Given the description of an element on the screen output the (x, y) to click on. 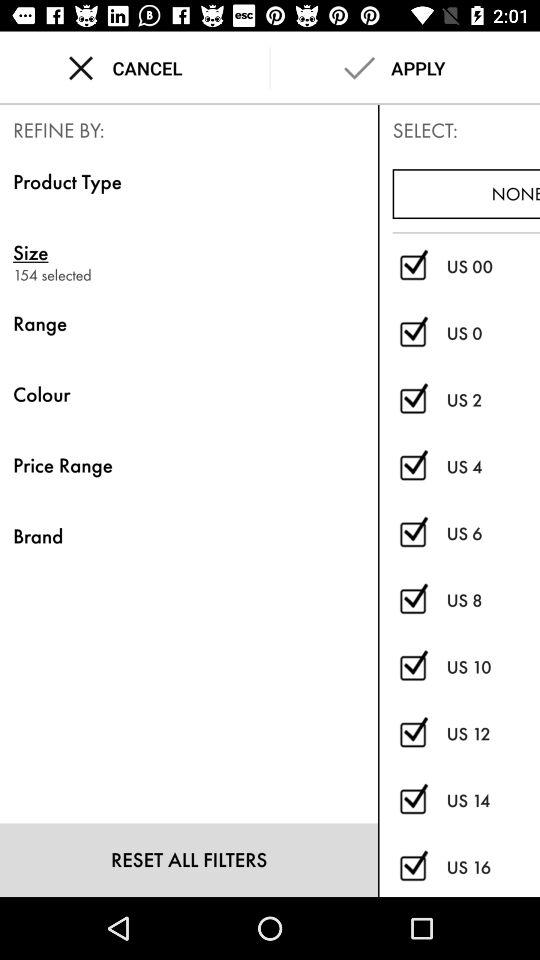
turn on the us 14 item (493, 800)
